Given the description of an element on the screen output the (x, y) to click on. 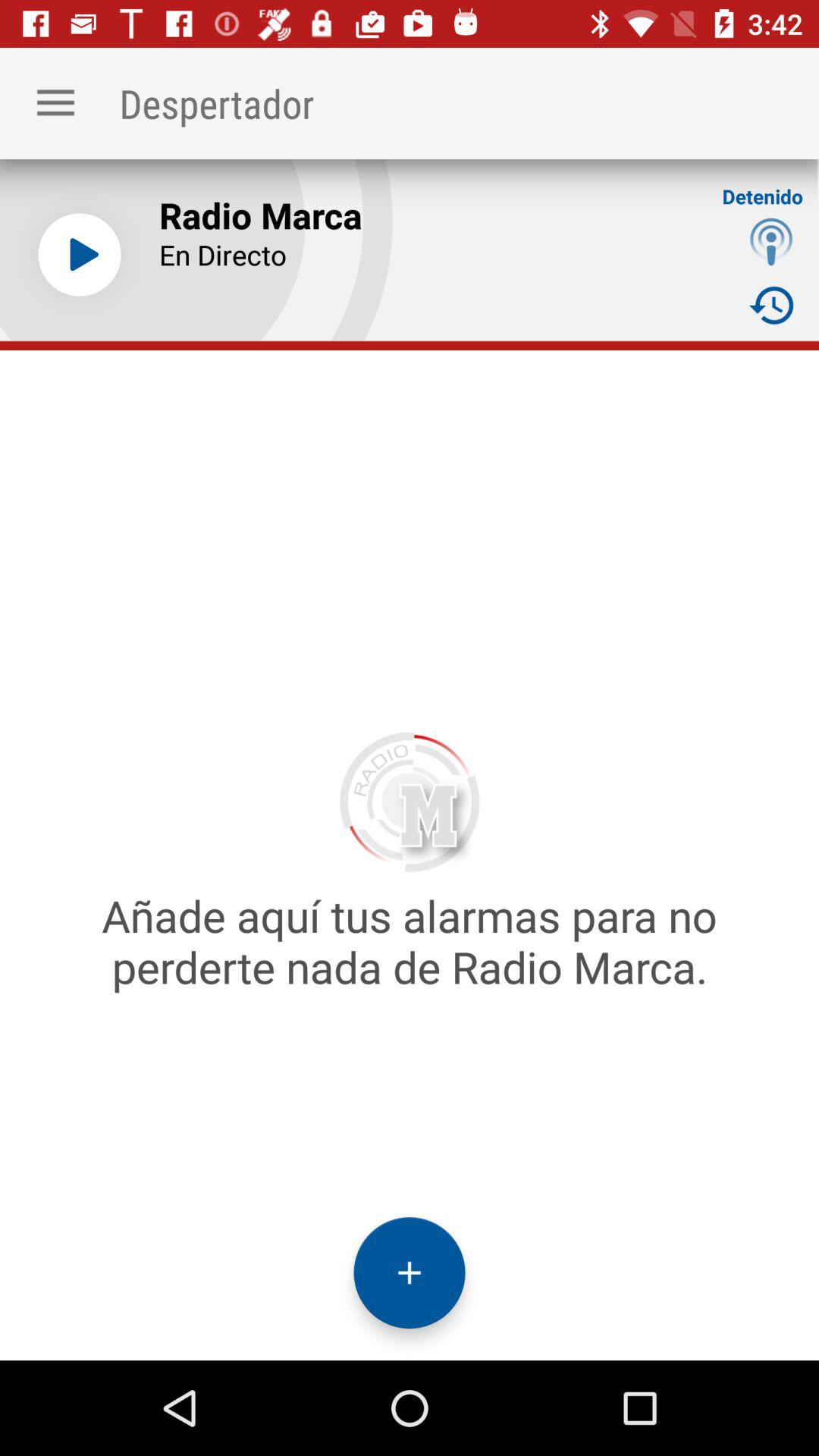
click on play icon left to radio marca (79, 254)
click on add icon at the bottom (409, 1273)
